Given the description of an element on the screen output the (x, y) to click on. 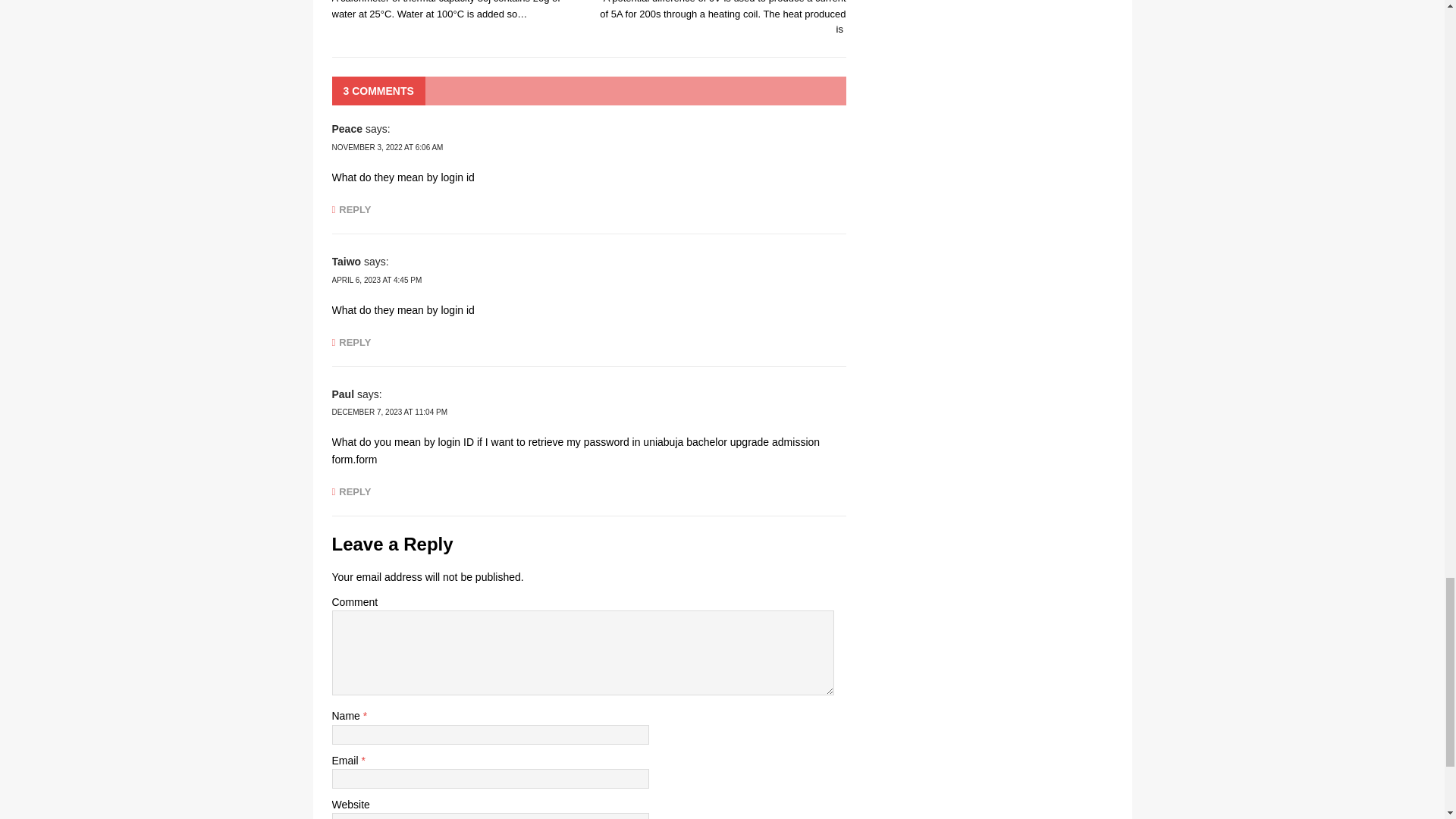
NOVEMBER 3, 2022 AT 6:06 AM (387, 147)
